Given the description of an element on the screen output the (x, y) to click on. 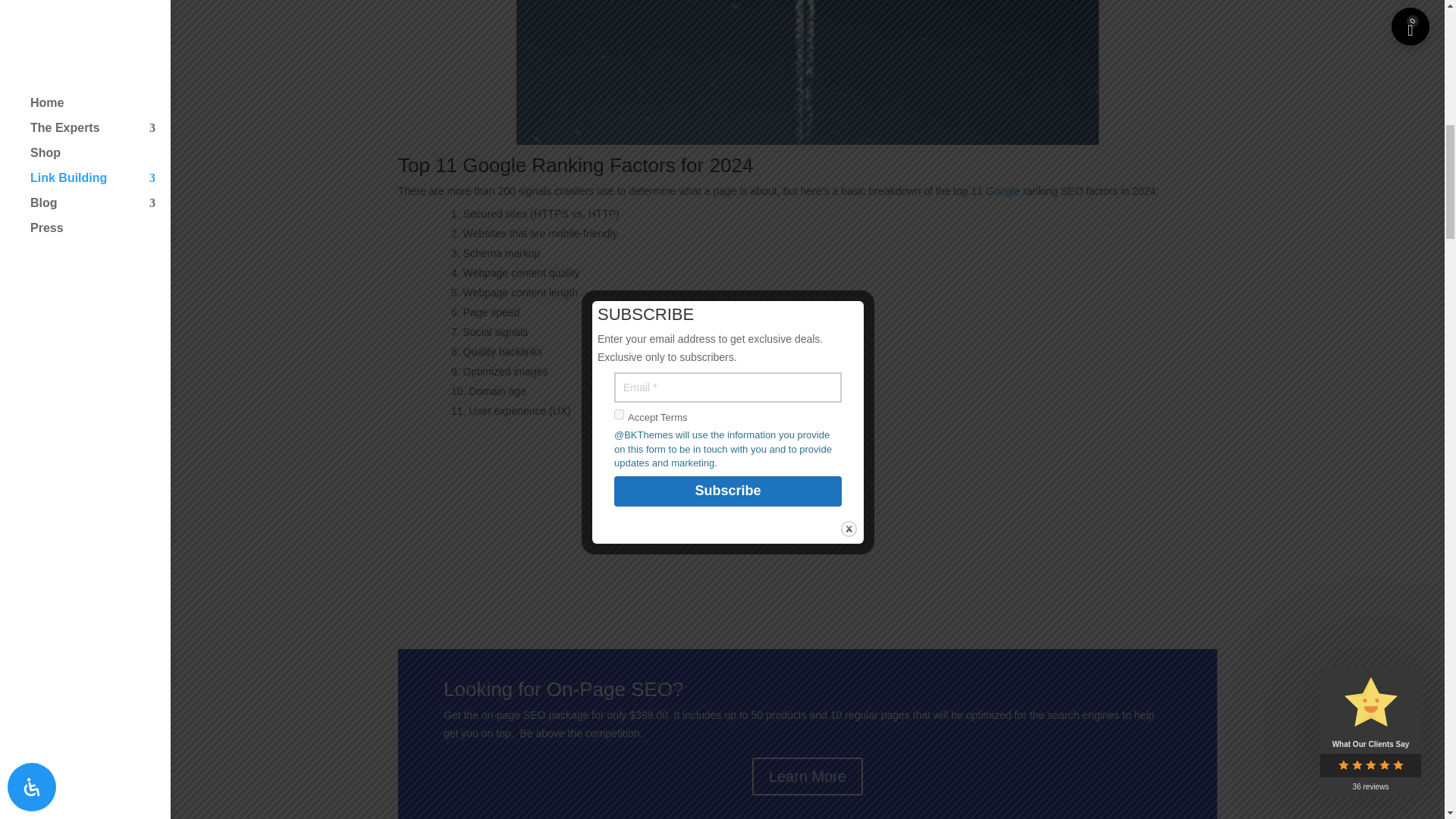
Seo 1 (807, 72)
